Given the description of an element on the screen output the (x, y) to click on. 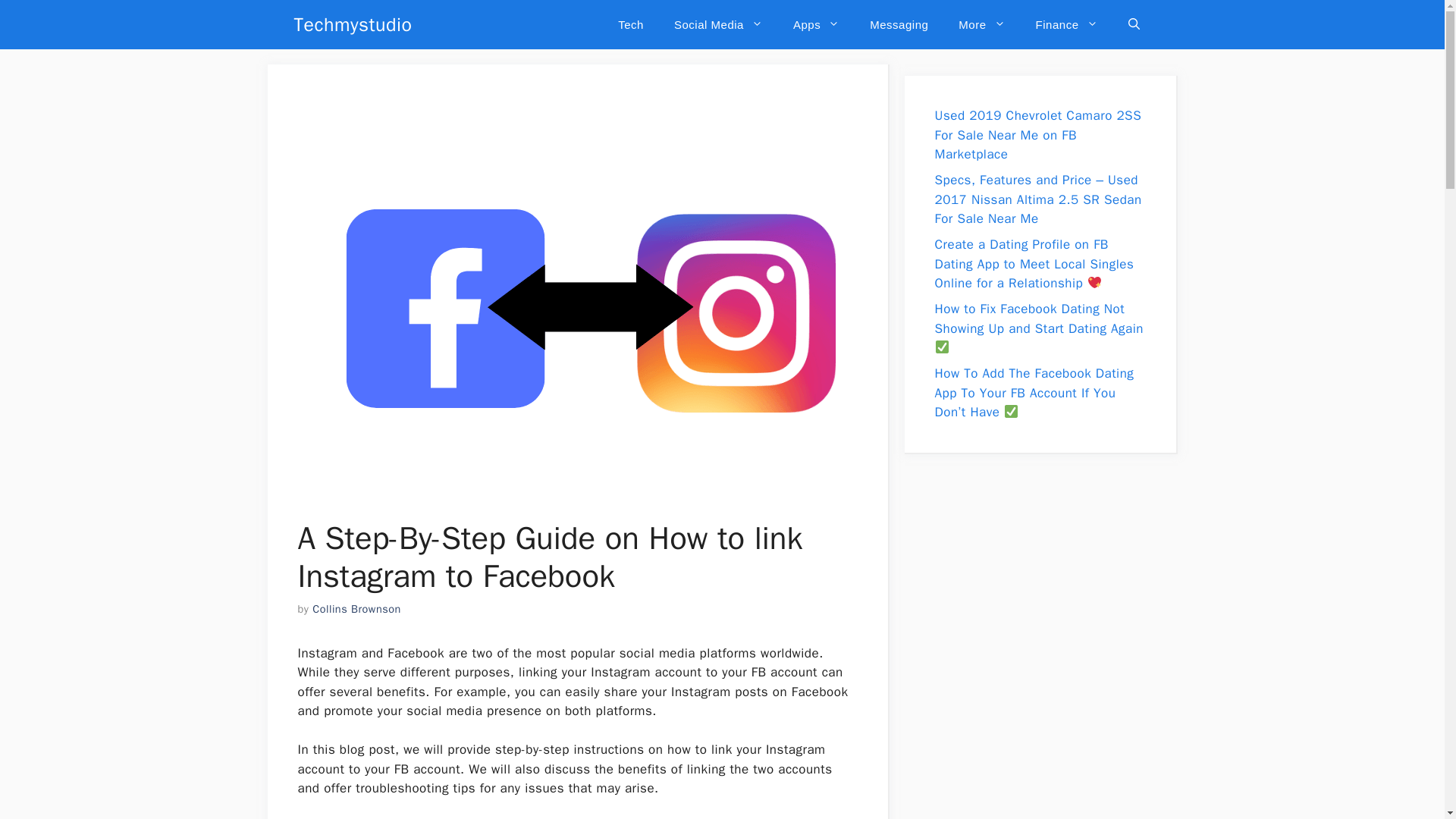
Techmystudio (353, 24)
Social Media (718, 23)
Messaging (898, 23)
View all posts by Collins Brownson (357, 608)
Collins Brownson (357, 608)
More (981, 23)
Finance (1066, 23)
Advertisement (1040, 574)
Tech (630, 23)
Apps (815, 23)
